Given the description of an element on the screen output the (x, y) to click on. 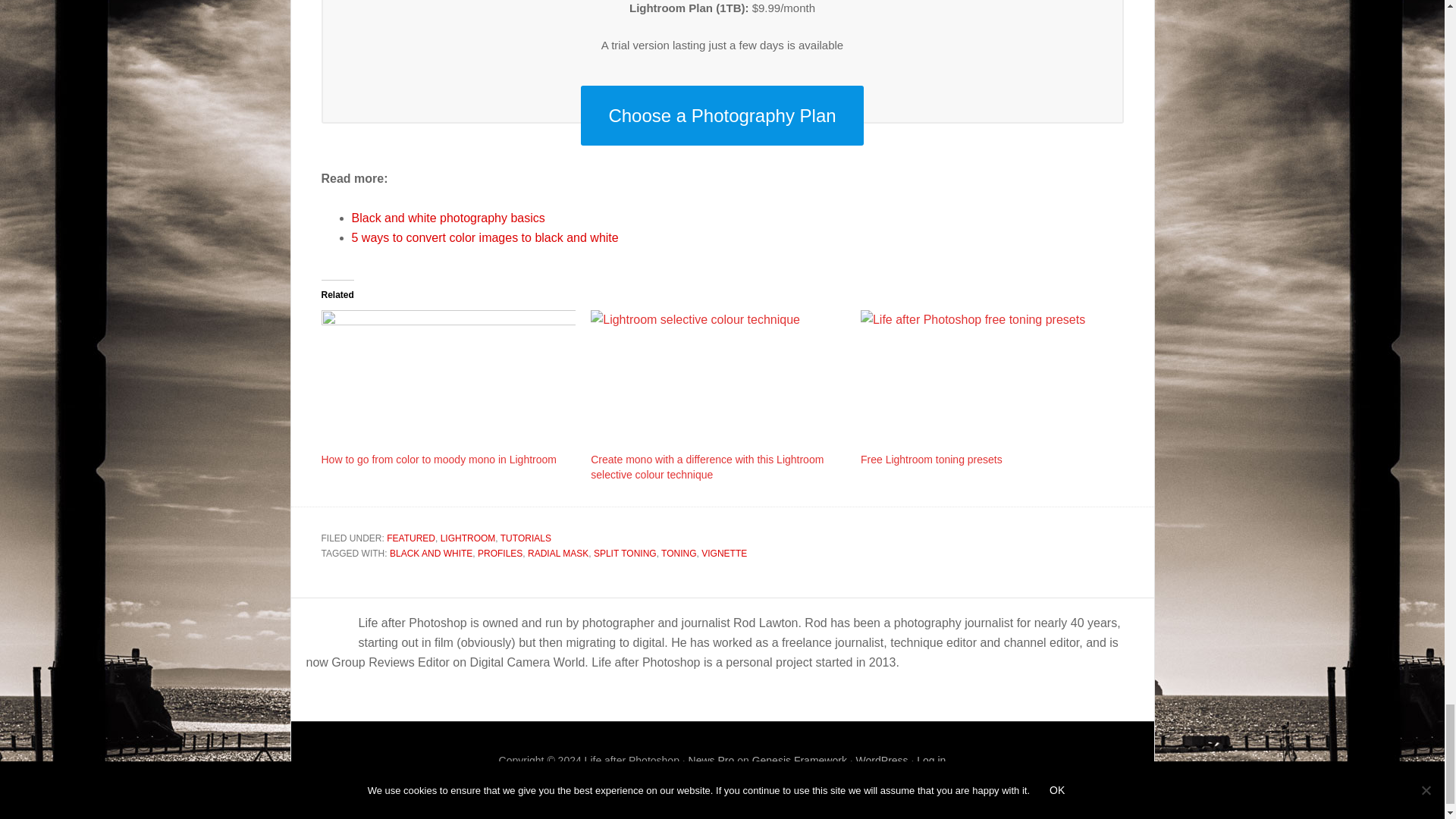
Free Lightroom toning presets (931, 459)
How to go from color to moody mono in Lightroom (448, 382)
How to go from color to moody mono in Lightroom (438, 459)
Free Lightroom toning presets (987, 382)
